Given the description of an element on the screen output the (x, y) to click on. 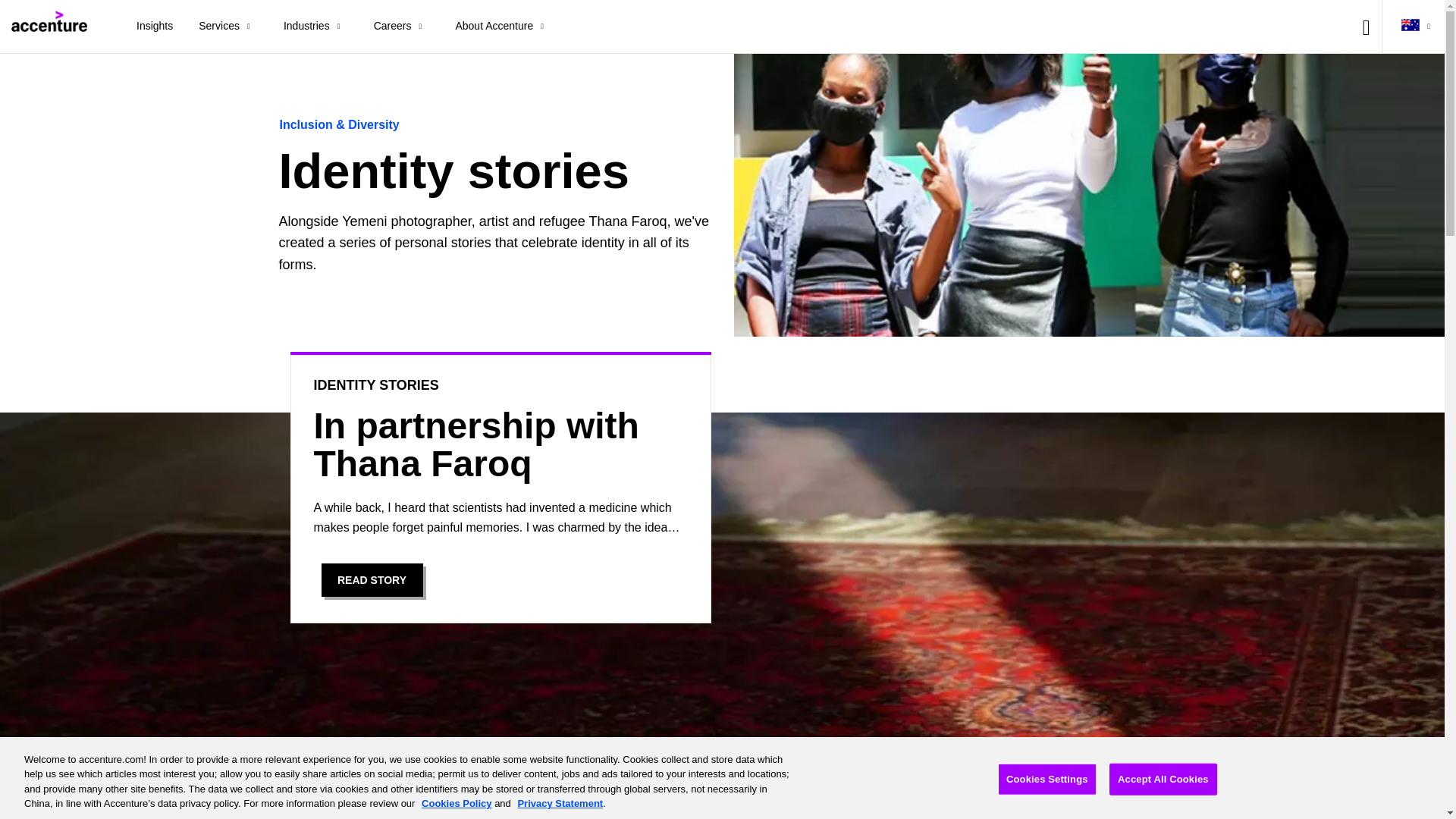
Services (228, 26)
Insights (154, 26)
Industries (315, 26)
